Given the description of an element on the screen output the (x, y) to click on. 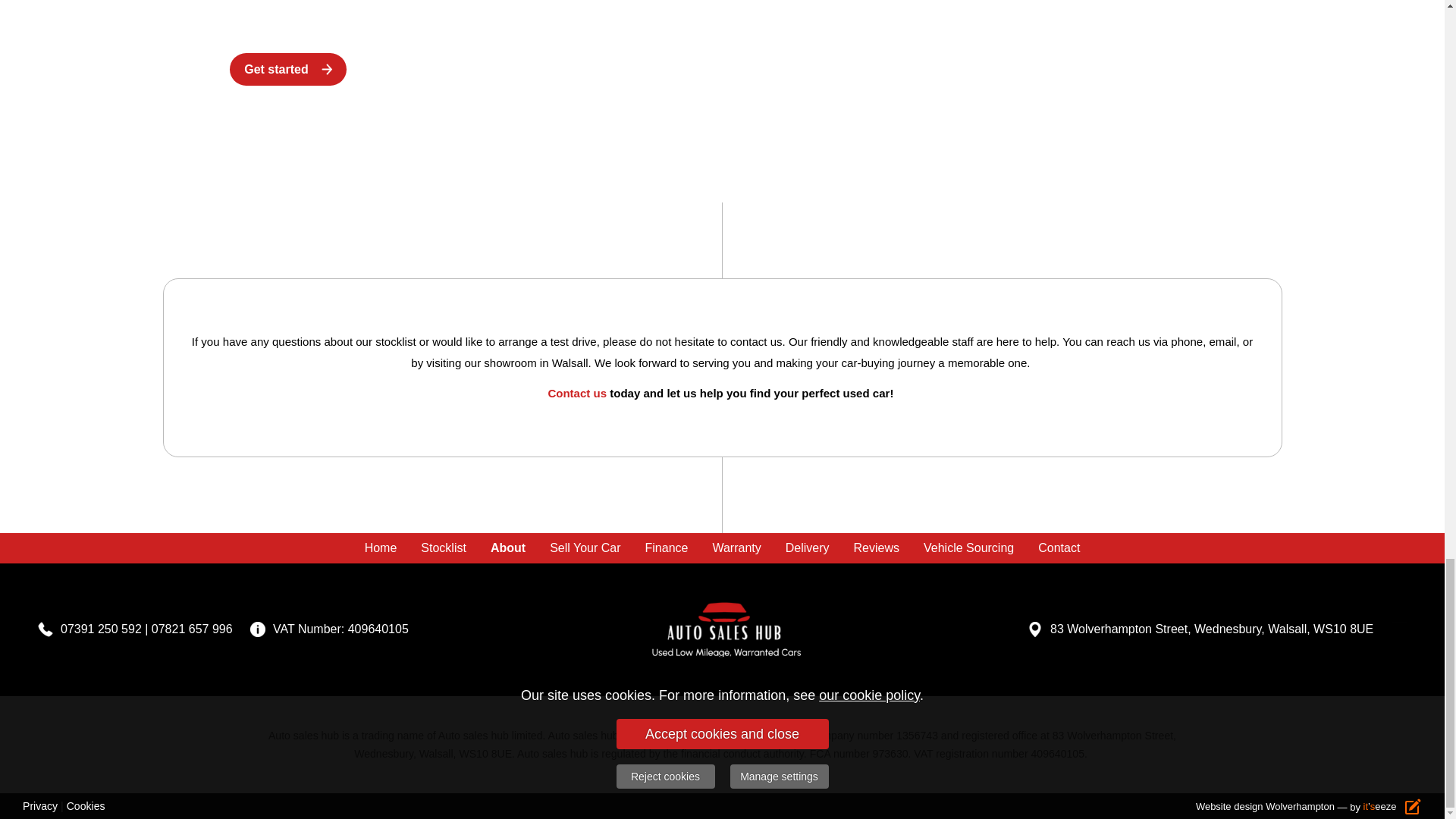
Contact (1059, 548)
Get started (288, 69)
Finance (666, 548)
Warranty (736, 548)
Home (380, 548)
Cookies (85, 805)
Delivery (807, 548)
Reviews (876, 548)
Website design Wolverhampton (1265, 806)
Sell Your Car (584, 548)
Stocklist (444, 548)
Vehicle Sourcing (968, 548)
Privacy (40, 805)
Contact us (577, 392)
